Given the description of an element on the screen output the (x, y) to click on. 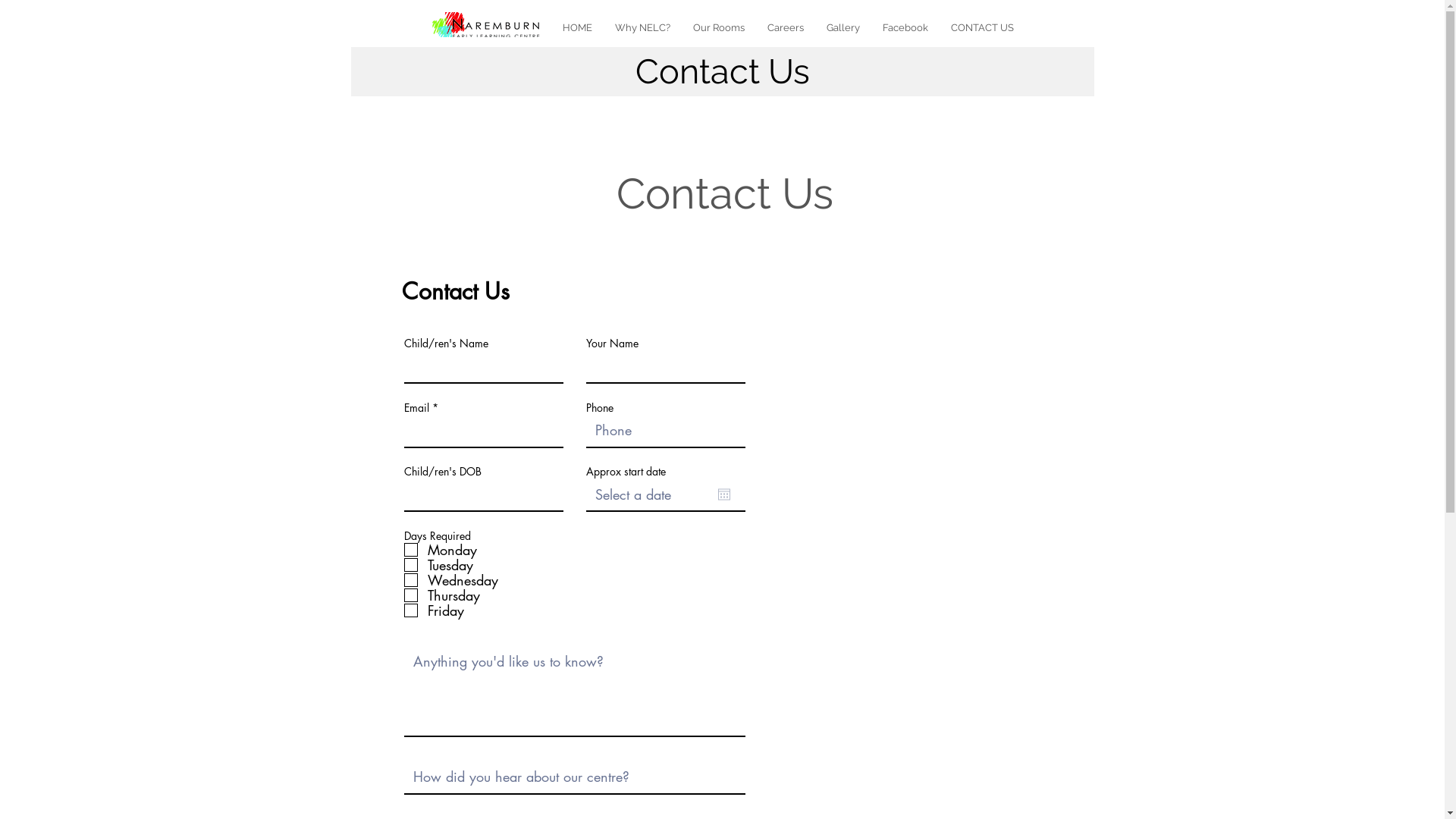
Facebook Element type: text (904, 27)
CONTACT US Element type: text (981, 27)
Careers Element type: text (784, 27)
HOME Element type: text (576, 27)
Gallery Element type: text (842, 27)
